Given the description of an element on the screen output the (x, y) to click on. 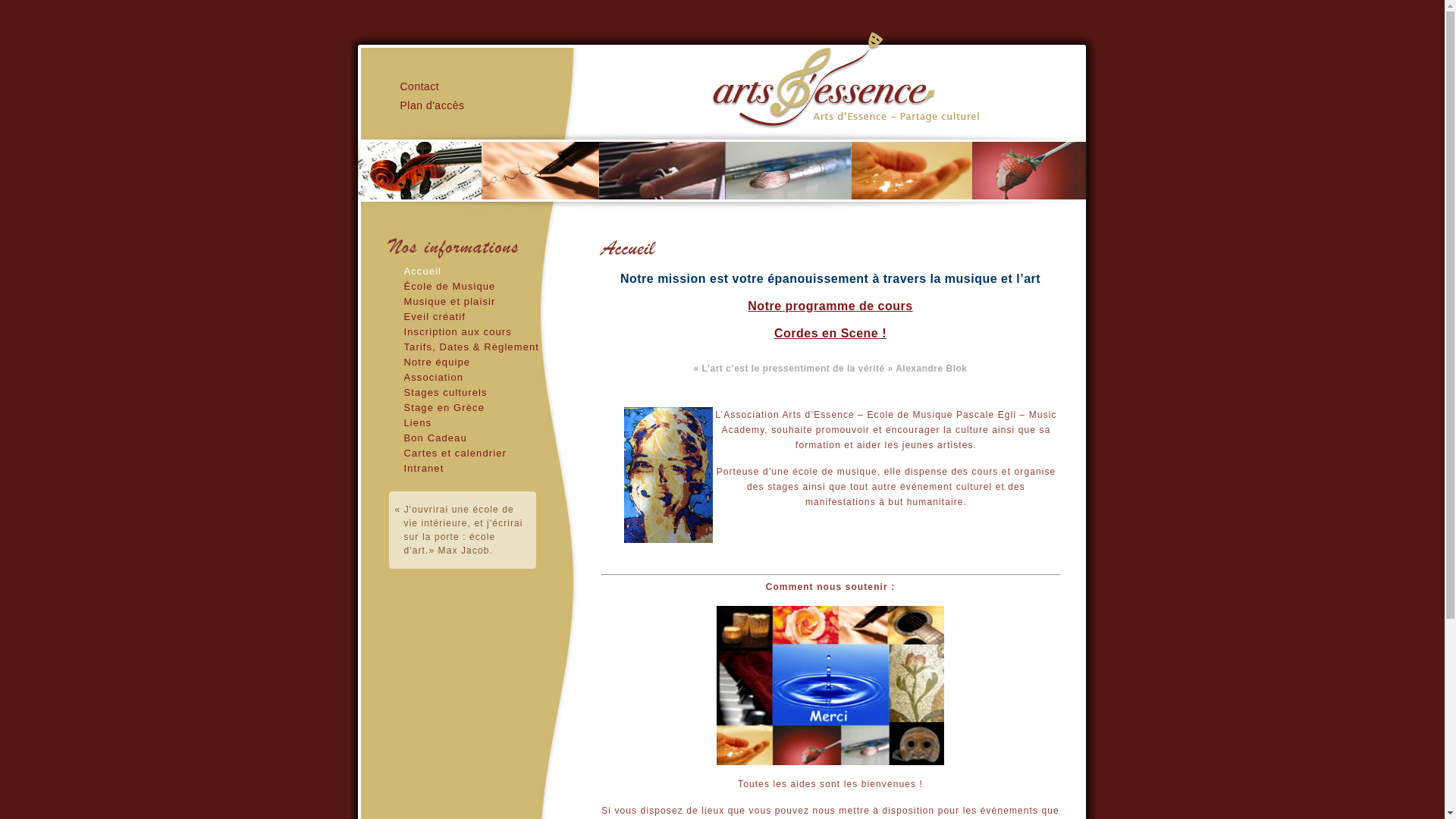
Cordes en Scene ! Element type: text (830, 332)
Notre programme de cours Element type: text (829, 305)
Accueil Element type: text (422, 270)
Stages culturels Element type: text (444, 392)
Inscription aux cours Element type: text (457, 331)
Association Element type: text (433, 376)
Liens Element type: text (417, 422)
Contact Element type: text (419, 86)
Cartes et calendrier Element type: text (454, 452)
Bon Cadeau Element type: text (434, 437)
Intranet Element type: text (423, 467)
Musique et plaisir Element type: text (449, 301)
